Given the description of an element on the screen output the (x, y) to click on. 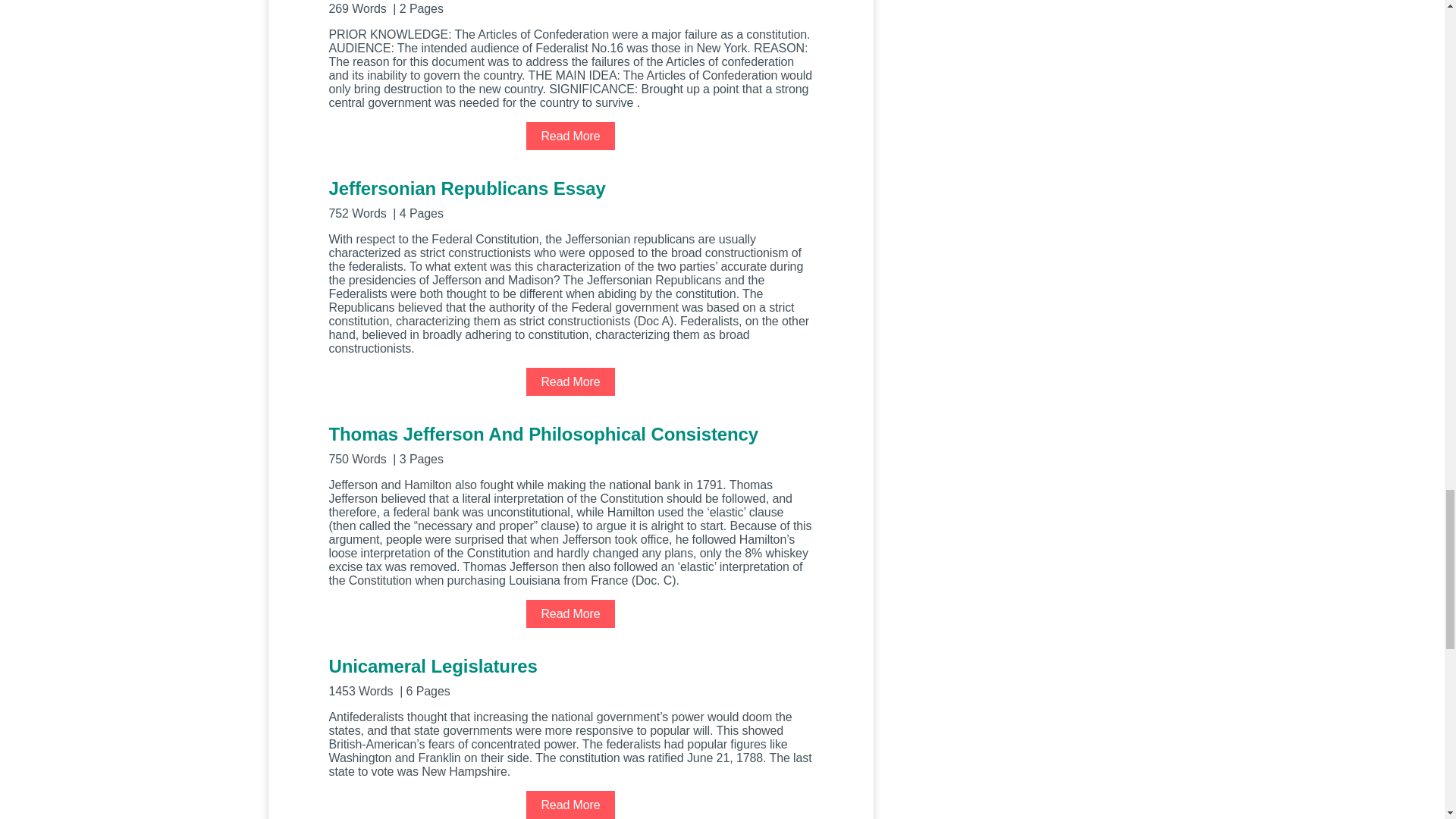
Read More (569, 613)
Thomas Jefferson And Philosophical Consistency (570, 444)
Read More (569, 381)
Read More (569, 135)
Jeffersonian Republicans Essay (570, 198)
Unicameral Legislatures (570, 675)
Read More (569, 805)
